Given the description of an element on the screen output the (x, y) to click on. 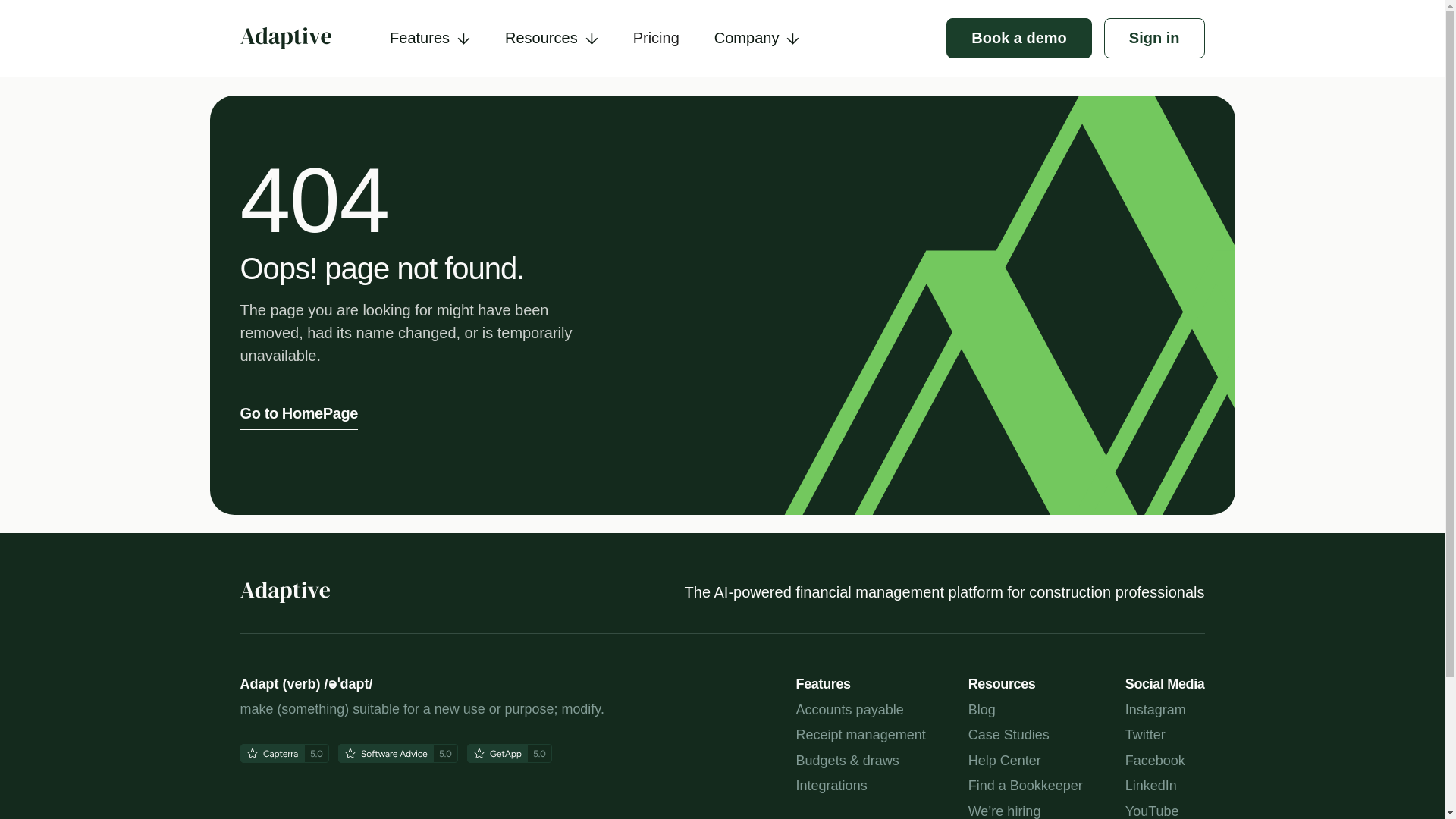
Instagram (1165, 710)
Case Studies (1025, 735)
Facebook (1165, 760)
Pricing (655, 38)
Blog (1025, 710)
Find a Bookkeeper (1025, 786)
LinkedIn (1165, 786)
Book a demo (1019, 38)
Accounts payable (861, 710)
Sign in (1154, 38)
YouTube (1165, 811)
Receipt management (861, 735)
Go to HomePage (299, 413)
Help Center (1025, 760)
Schedule Now (721, 661)
